Given the description of an element on the screen output the (x, y) to click on. 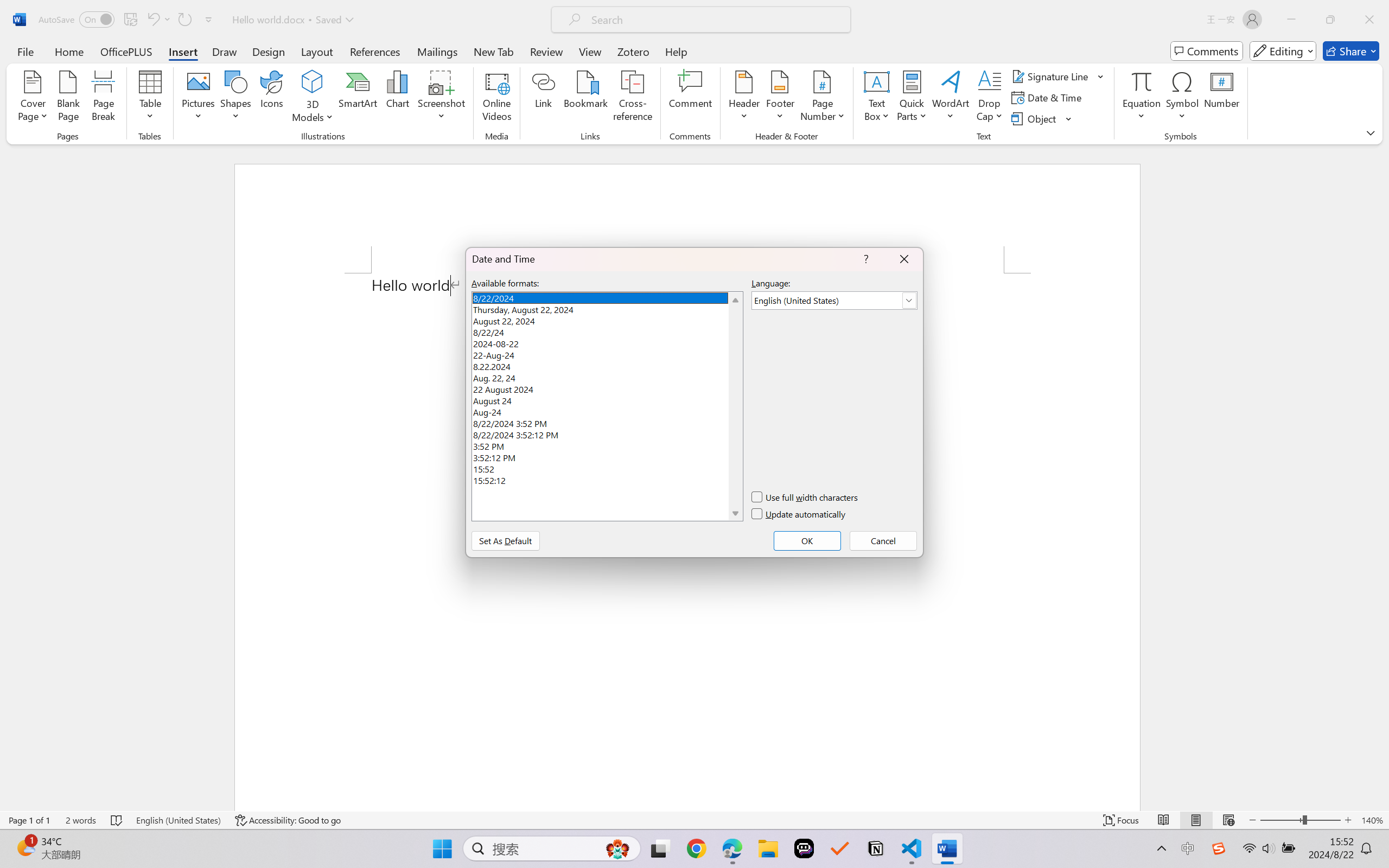
Review (546, 51)
Thursday, August 22, 2024 (606, 308)
Ribbon Display Options (1370, 132)
Can't Repeat (184, 19)
Equation (1141, 81)
August 24 (606, 399)
Print Layout (1196, 819)
3:52 PM (606, 444)
Date & Time... (1048, 97)
Mailings (437, 51)
Page Number (822, 97)
